Given the description of an element on the screen output the (x, y) to click on. 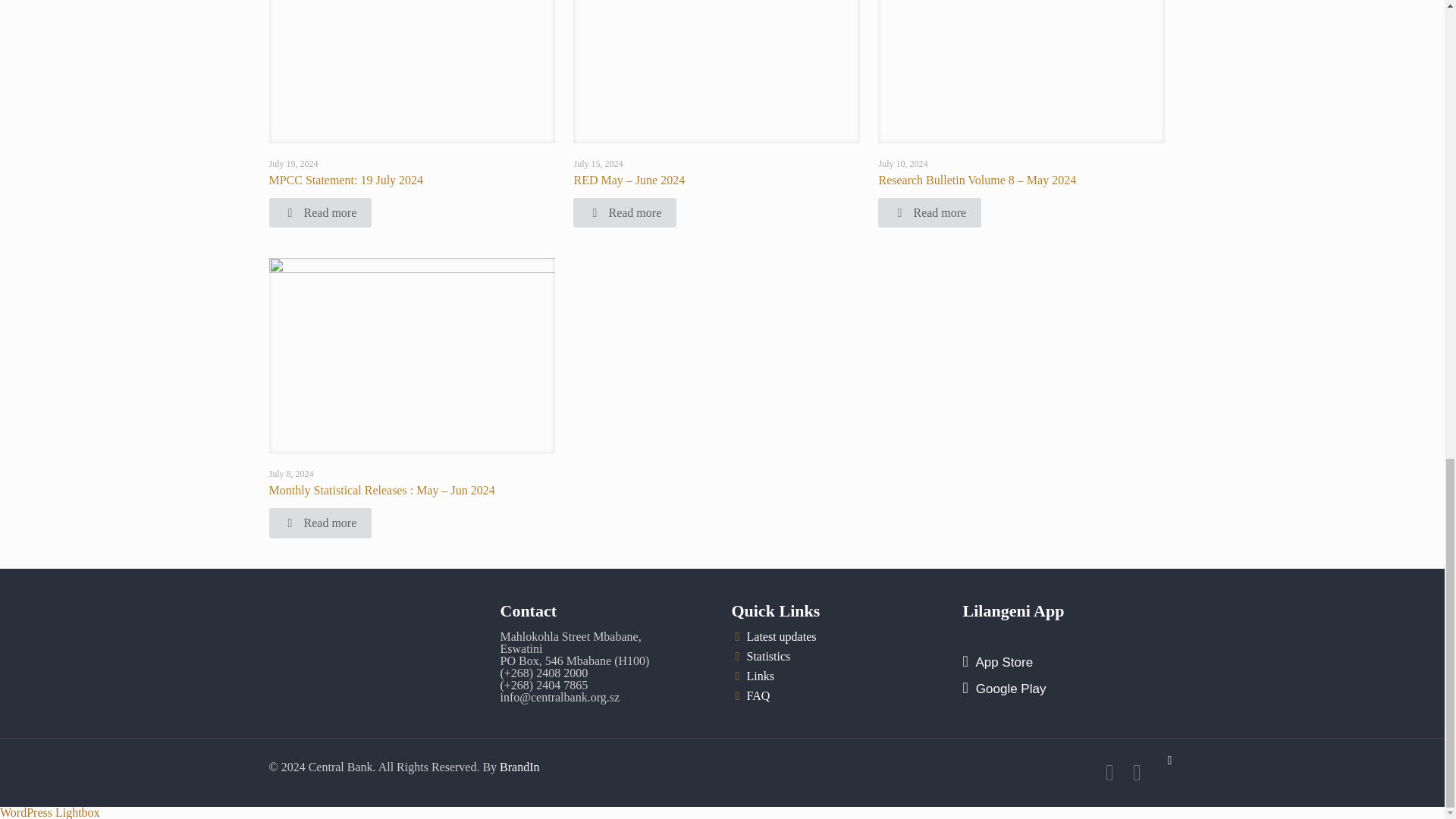
YouTube (1136, 776)
Facebook (1109, 776)
